Given the description of an element on the screen output the (x, y) to click on. 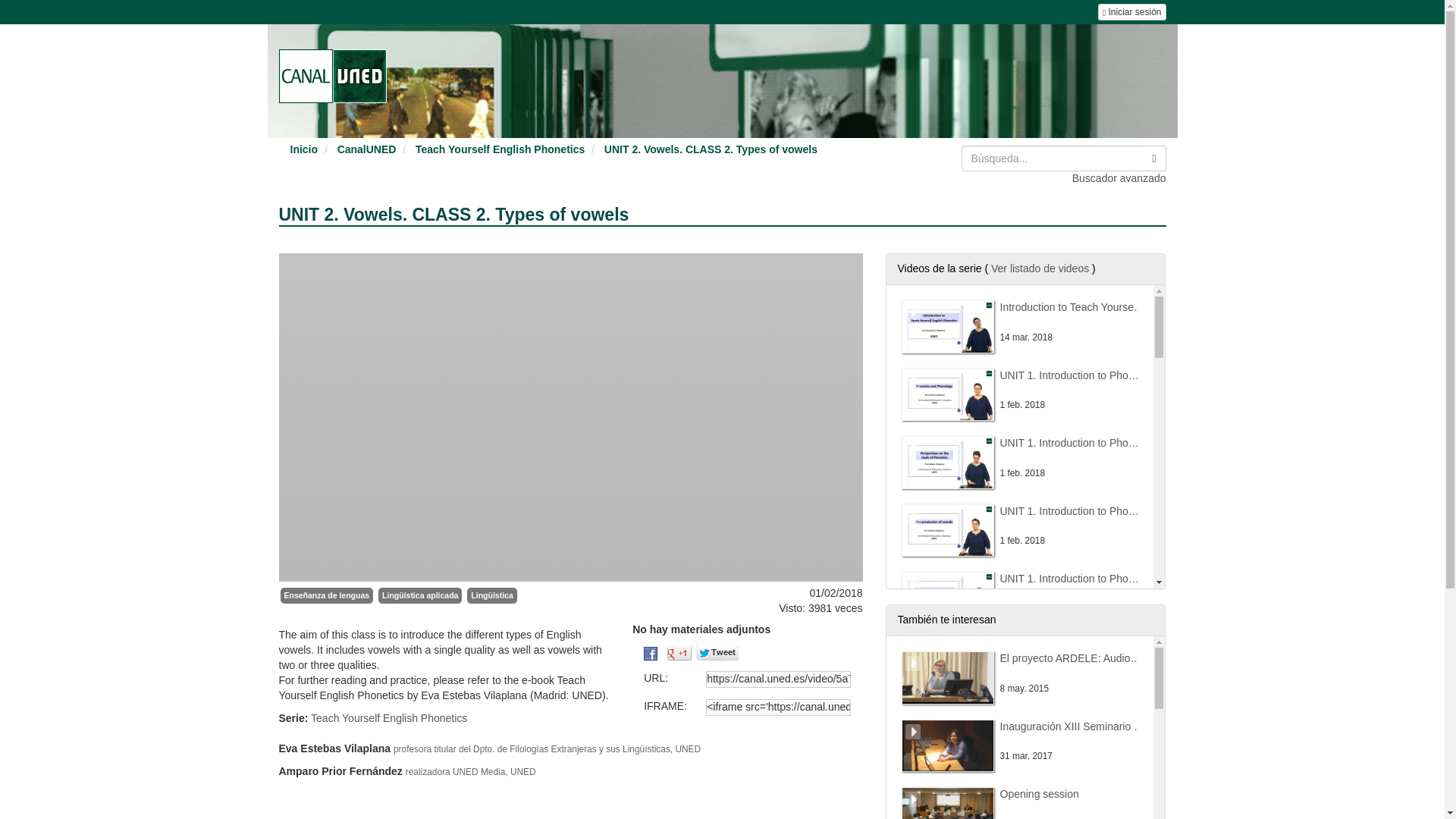
UNIT 2. Vowels. CLASS 2. Types of vowels (710, 149)
Inicio (303, 149)
CanalUNED (366, 149)
Log in (1131, 12)
Buscador avanzado (1118, 177)
Teach Yourself English Phonetics (499, 149)
Buscador avanzado (1118, 177)
